Given the description of an element on the screen output the (x, y) to click on. 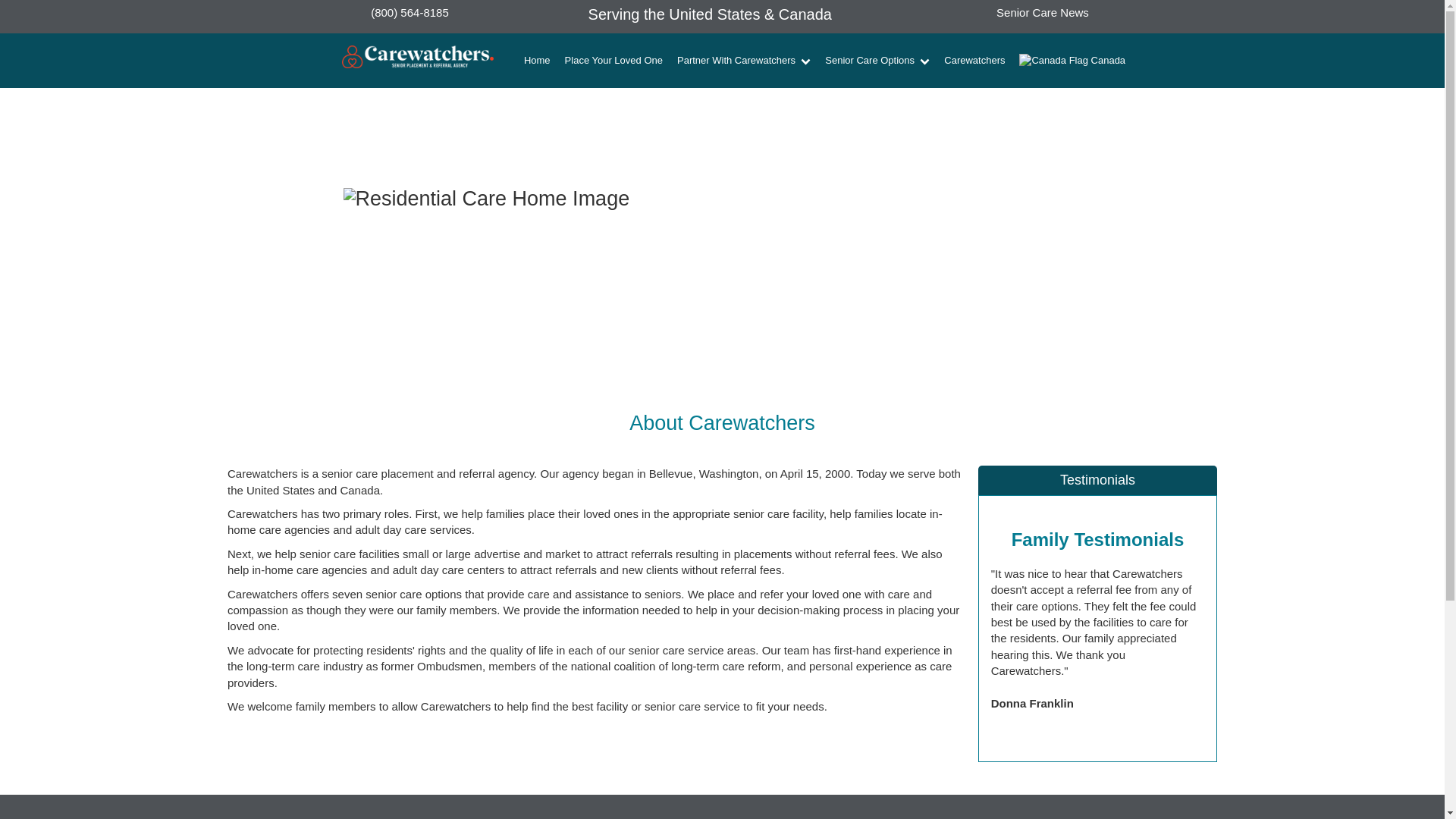
Carewatchers Logo (417, 60)
Carewatchers (974, 60)
Place Your Loved One (613, 60)
Partner With Carewatchers  (742, 60)
Carewatchers Logo (417, 60)
Senior Care Options  (877, 60)
 Canada (1071, 60)
Senior Care News (1042, 11)
